Given the description of an element on the screen output the (x, y) to click on. 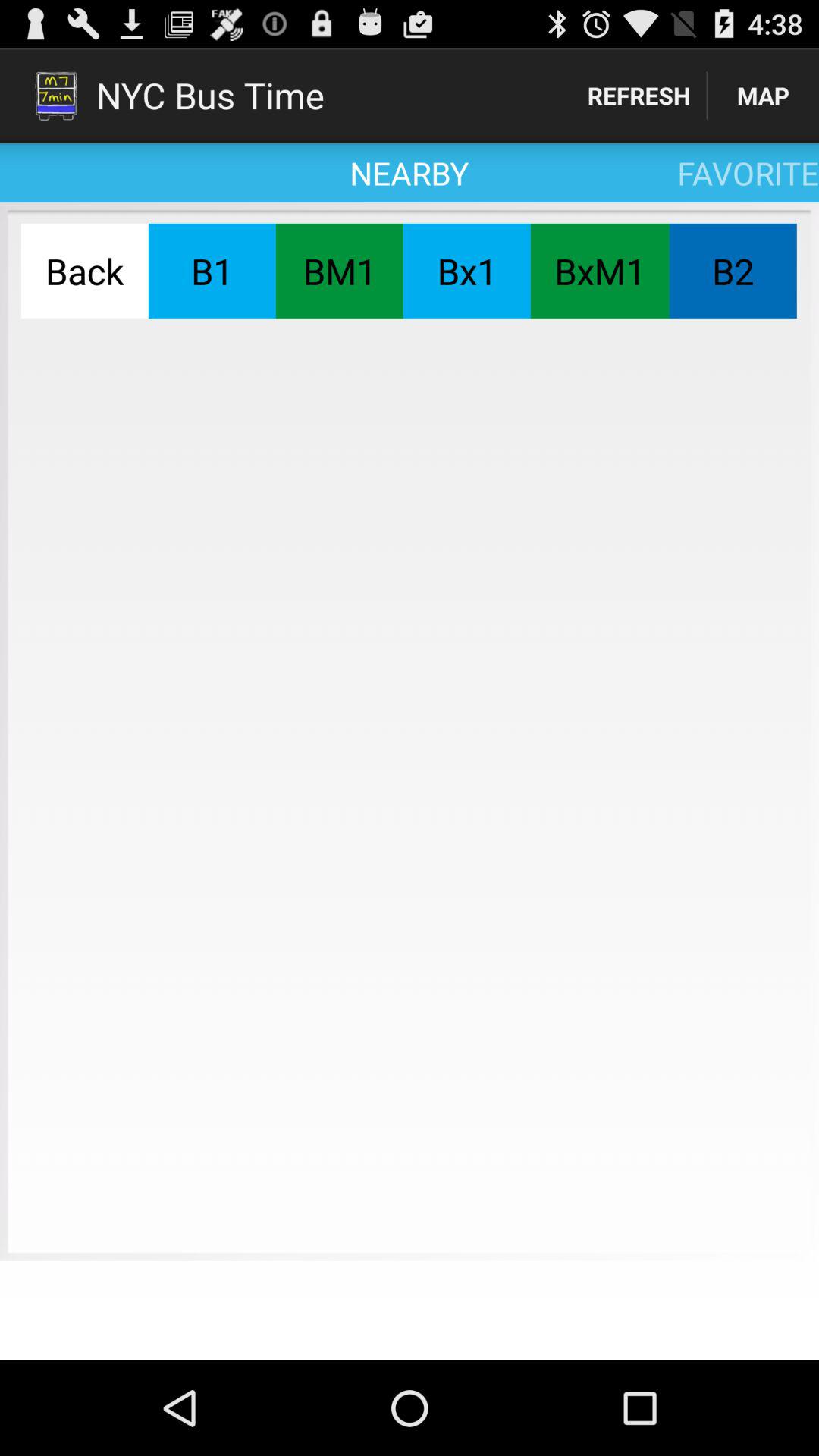
choose icon next to the map icon (638, 95)
